Given the description of an element on the screen output the (x, y) to click on. 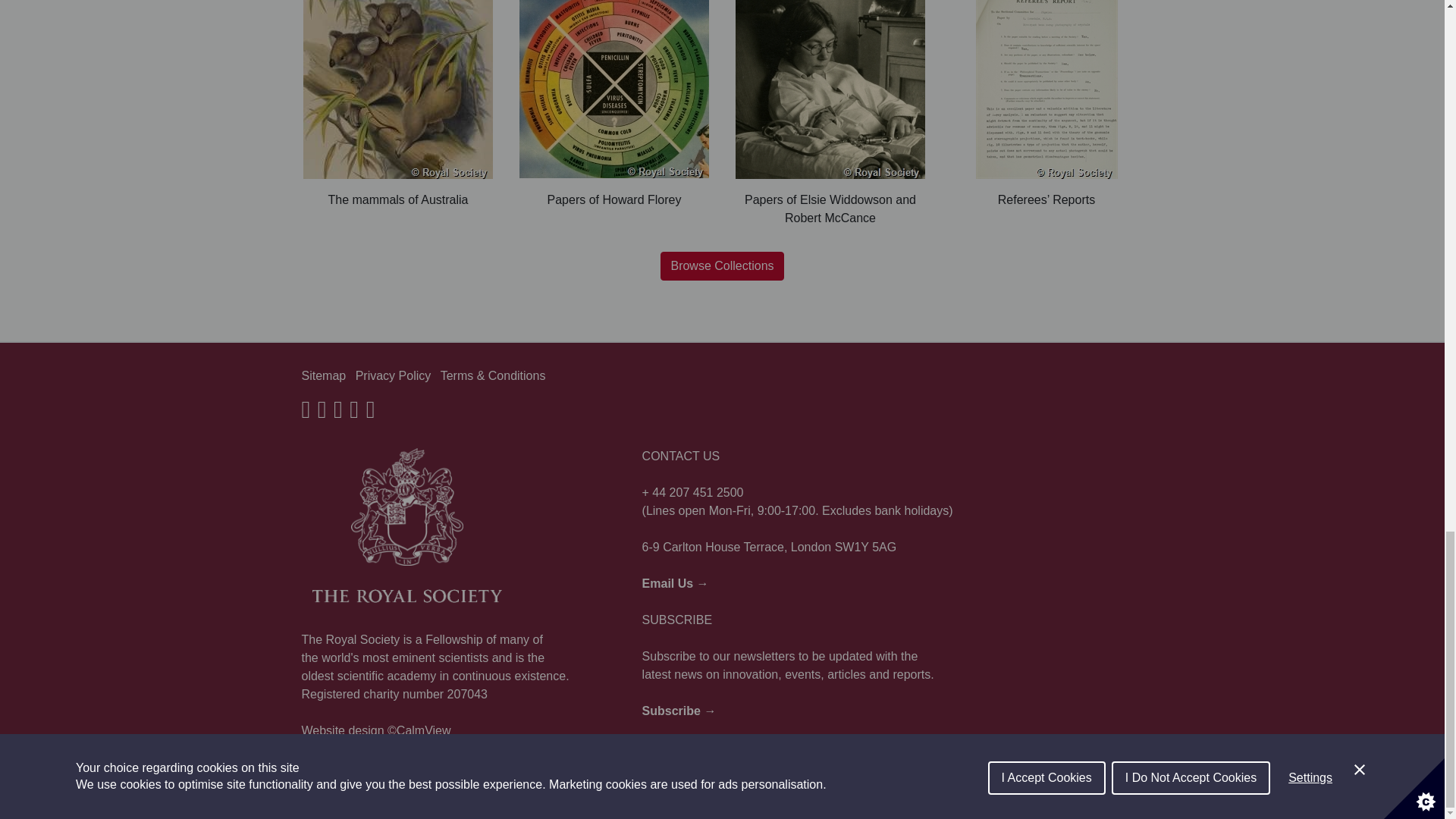
Papers of Howard Florey (613, 104)
Privacy Policy (392, 375)
The mammals of Australia (398, 104)
Sitemap (323, 375)
Browse Collections (722, 265)
